Given the description of an element on the screen output the (x, y) to click on. 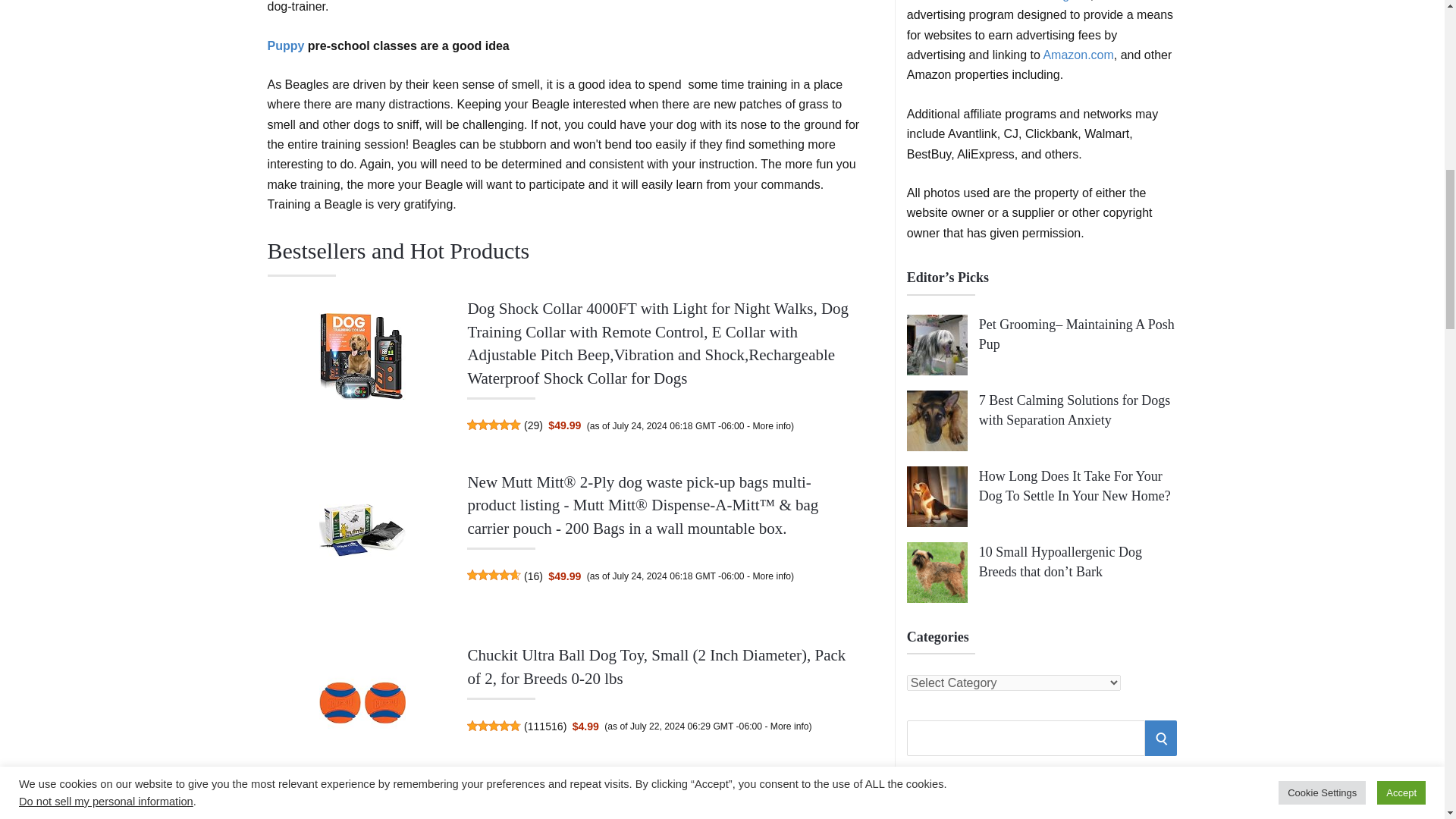
111516 (545, 726)
More info (771, 575)
Puppy (285, 45)
16 (533, 576)
Posts tagged with puppy (285, 45)
29 (533, 425)
More info (771, 425)
More info (789, 726)
